Given the description of an element on the screen output the (x, y) to click on. 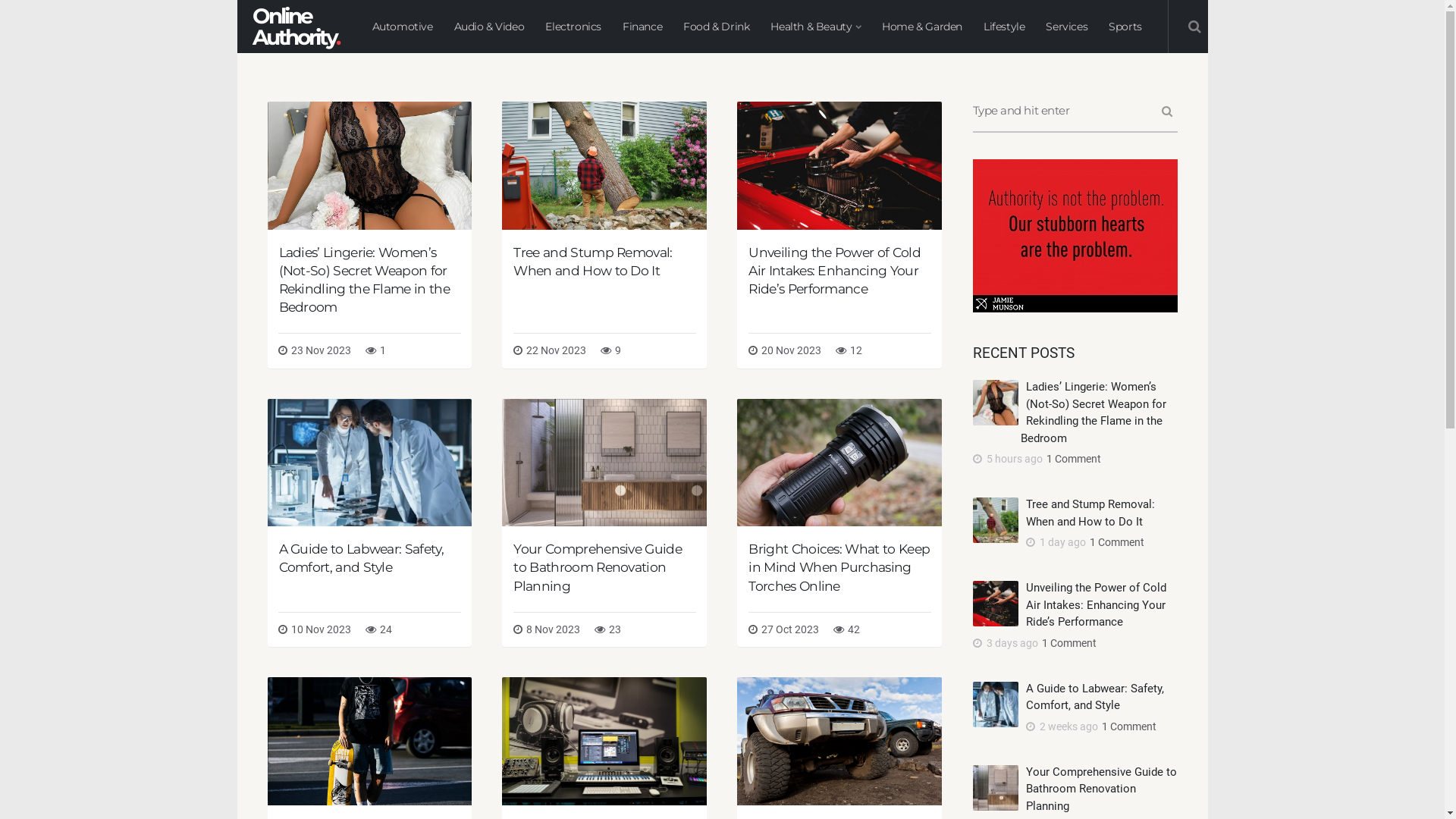
Electronics Element type: text (573, 26)
Online Authority. Element type: text (294, 26)
Tree and Stump Removal: When and How to Do It Element type: text (592, 261)
1 Comment Element type: text (1071, 458)
Your Comprehensive Guide to Bathroom Renovation Planning Element type: text (596, 566)
Audio & Video Element type: text (488, 26)
Your Comprehensive Guide to Bathroom Renovation Planning Element type: text (1100, 788)
Sports Element type: text (1125, 26)
Food & Drink Element type: text (716, 26)
Tree and Stump Removal: When and How to Do It Element type: text (1089, 512)
A Guide to Labwear: Safety, Comfort, and Style Element type: text (1094, 696)
Services Element type: text (1066, 26)
Health & Beauty Element type: text (815, 26)
1 Comment Element type: text (1114, 542)
Home & Garden Element type: text (921, 26)
Finance Element type: text (642, 26)
1 Comment Element type: text (1127, 726)
Lifestyle Element type: text (1003, 26)
A Guide to Labwear: Safety, Comfort, and Style Element type: text (361, 557)
1 Comment Element type: text (1067, 643)
Automotive Element type: text (401, 26)
